Given the description of an element on the screen output the (x, y) to click on. 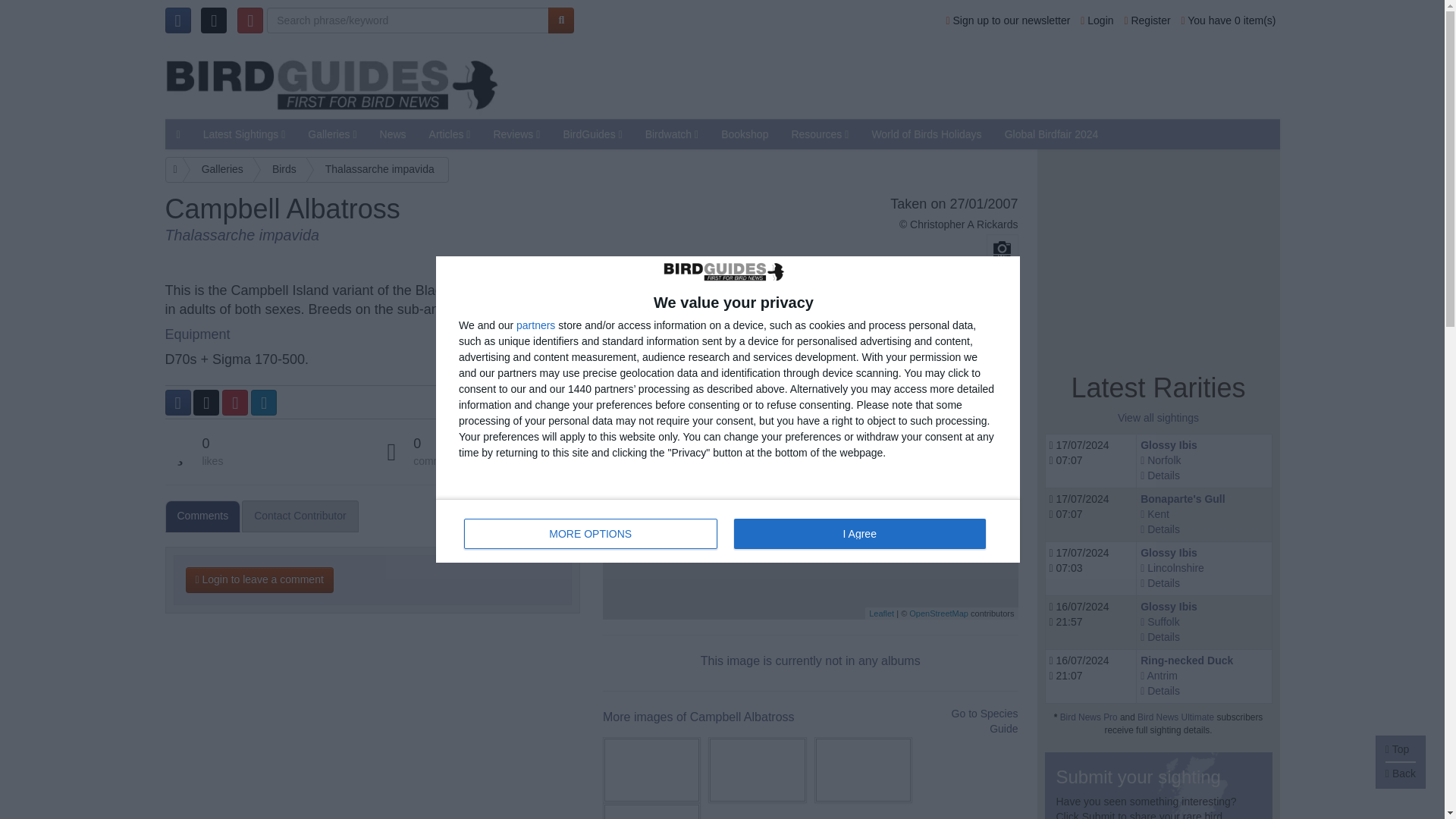
Home (174, 169)
Register (727, 530)
3rd party ad content (1147, 20)
Login (1158, 255)
Zoom in (1096, 20)
3rd party ad content (622, 487)
Articles (911, 79)
MORE OPTIONS (449, 133)
Sign up to our newsletter (590, 533)
News (1008, 20)
Contributed by Chris Dogend (392, 133)
partners (963, 224)
A JS library for interactive maps (535, 325)
Latest Sightings (881, 613)
